Given the description of an element on the screen output the (x, y) to click on. 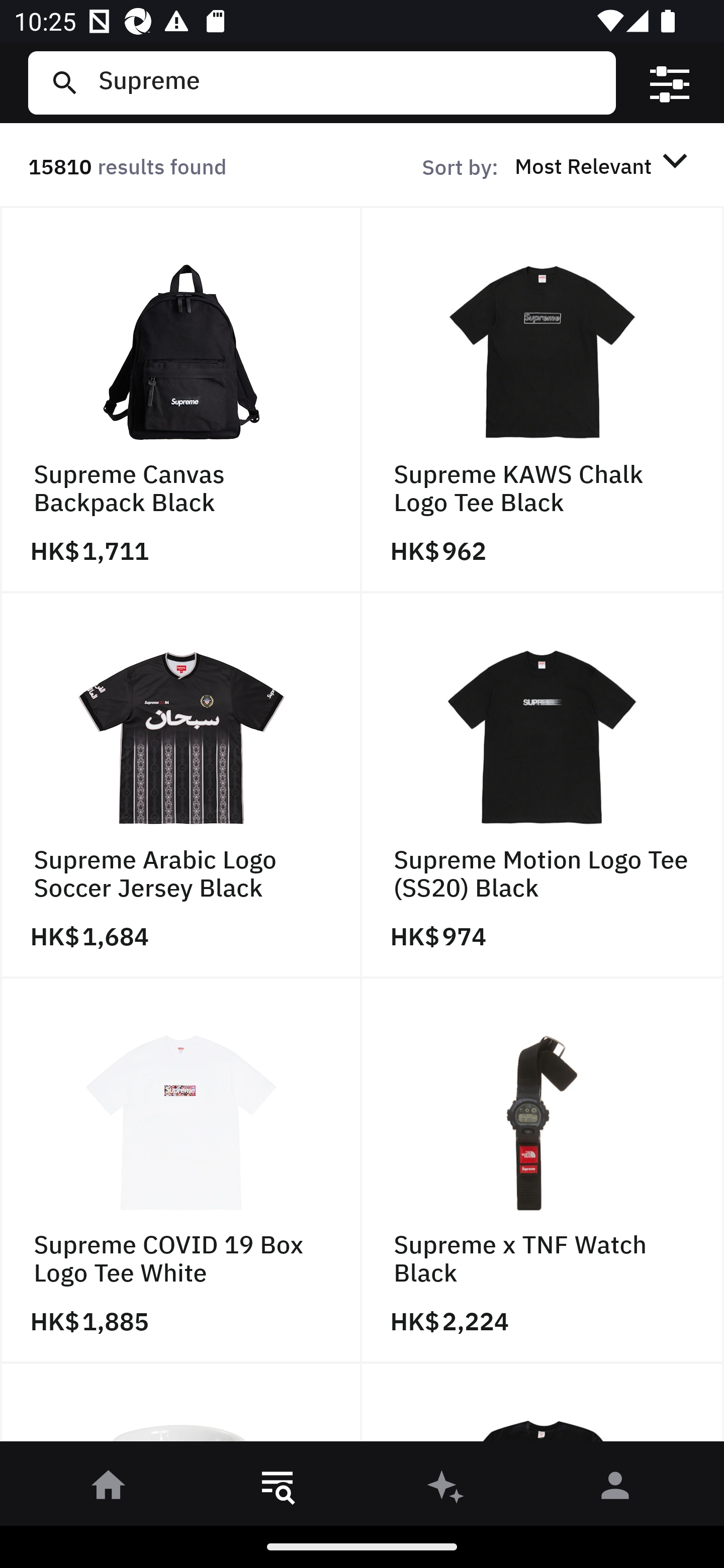
Supreme (349, 82)
 (669, 82)
Most Relevant  (604, 165)
Supreme Canvas Backpack Black HK$ 1,711 (181, 399)
Supreme KAWS Chalk Logo Tee Black HK$ 962 (543, 399)
Supreme Arabic Logo Soccer Jersey Black HK$ 1,684 (181, 785)
Supreme Motion Logo Tee (SS20) Black HK$ 974 (543, 785)
Supreme COVID 19 Box Logo Tee White HK$ 1,885 (181, 1171)
Supreme x TNF Watch Black HK$ 2,224 (543, 1171)
󰋜 (108, 1488)
󱎸 (277, 1488)
󰫢 (446, 1488)
󰀄 (615, 1488)
